Given the description of an element on the screen output the (x, y) to click on. 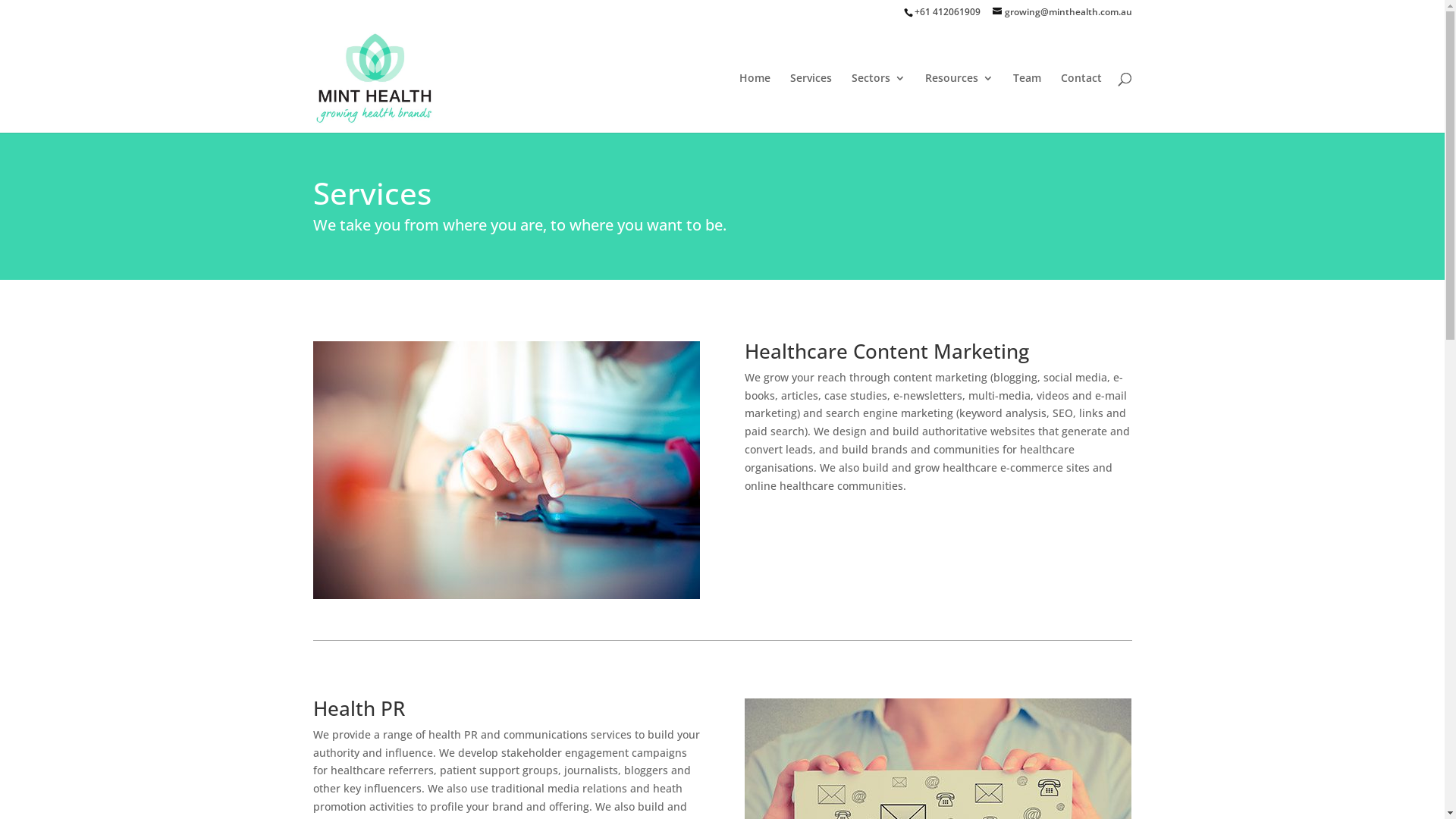
Resources Element type: text (959, 102)
Sectors Element type: text (877, 102)
Home Element type: text (753, 102)
Contact Element type: text (1080, 102)
Team Element type: text (1027, 102)
Services Element type: text (810, 102)
growing@minthealth.com.au Element type: text (1061, 11)
